Given the description of an element on the screen output the (x, y) to click on. 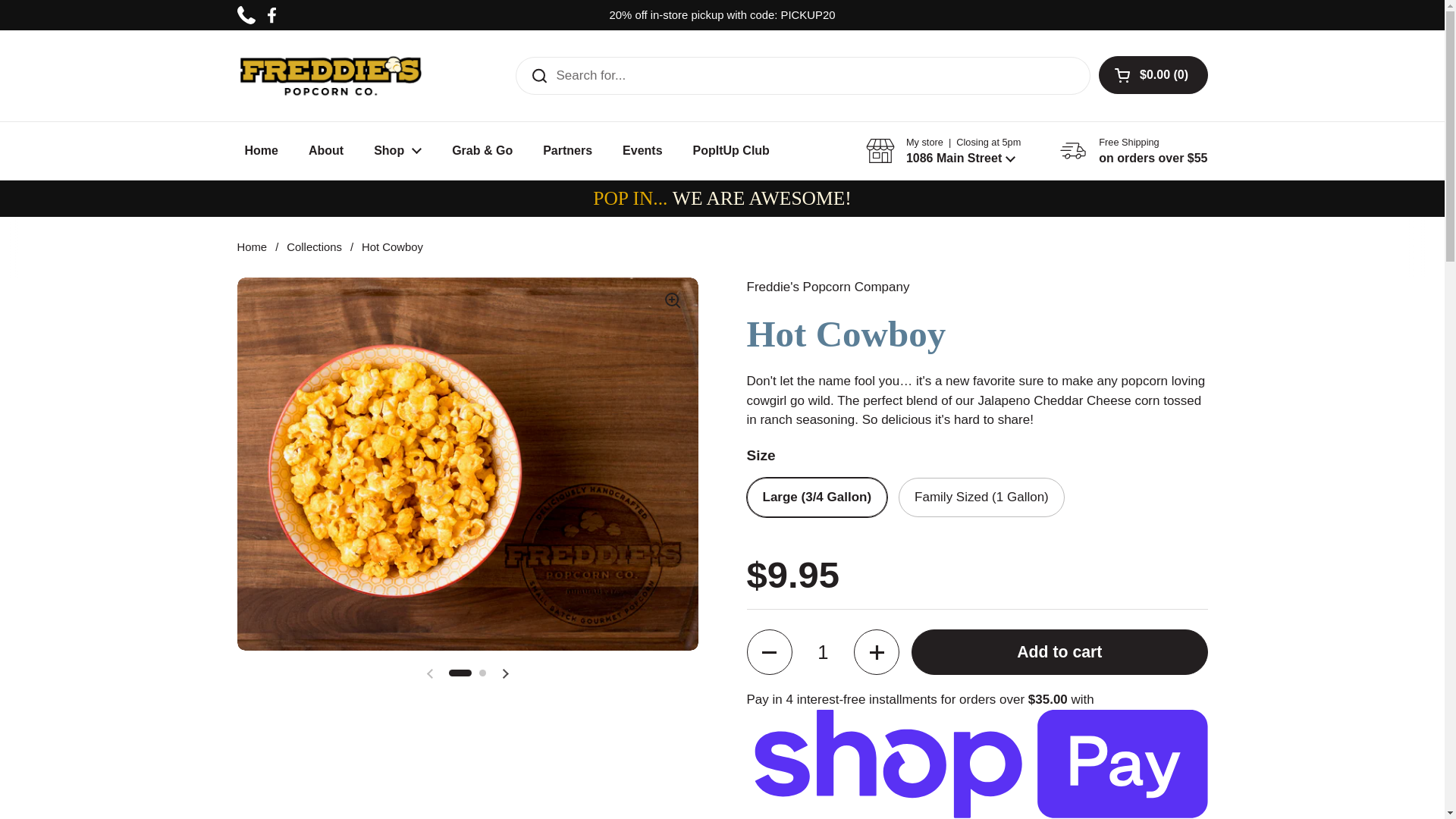
Phone (244, 14)
Facebook (271, 14)
Open cart (1153, 75)
Home (250, 246)
Home (260, 150)
Shop (397, 150)
PopItUp Club (731, 150)
Partners (567, 150)
Freddies Popcorn Company (329, 75)
About (326, 150)
